Given the description of an element on the screen output the (x, y) to click on. 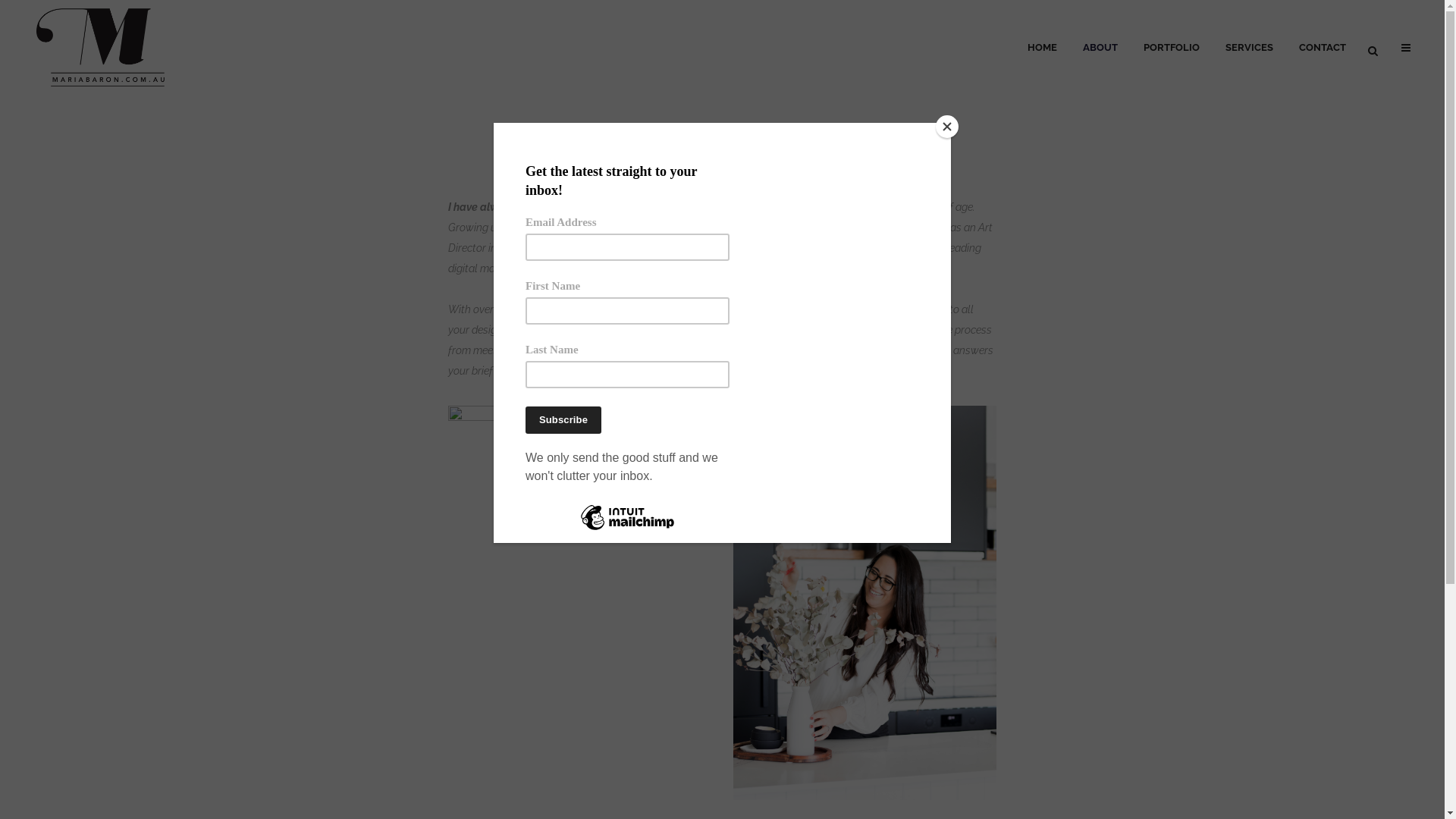
CONTACT Element type: text (1322, 47)
ABOUT Element type: text (1100, 47)
SERVICES Element type: text (1249, 47)
PORTFOLIO Element type: text (1171, 47)
HOME Element type: text (1042, 47)
